Given the description of an element on the screen output the (x, y) to click on. 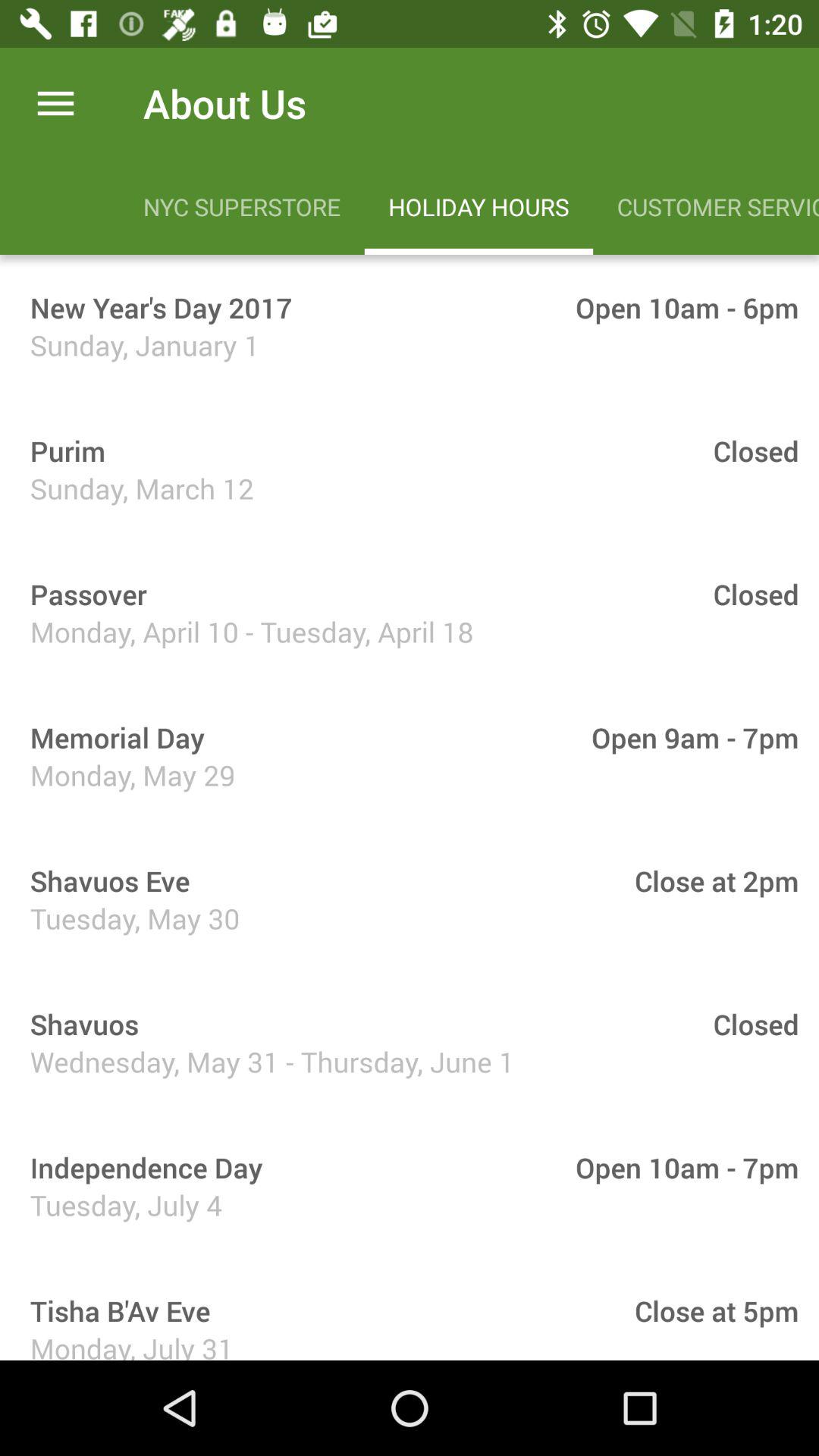
press item to the left of close at 5pm icon (114, 1310)
